Given the description of an element on the screen output the (x, y) to click on. 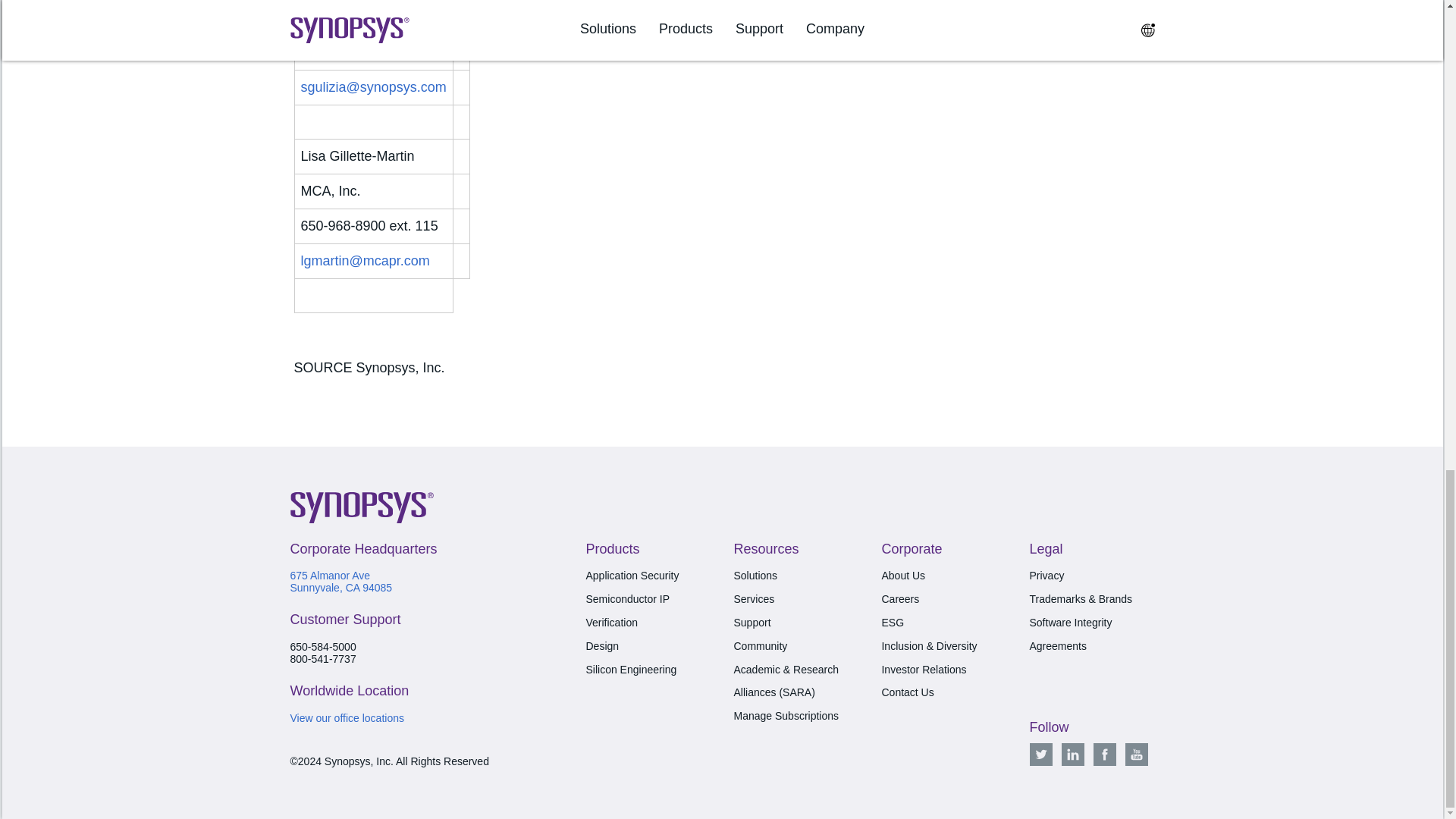
Linkedin (1072, 753)
Twitter (1040, 753)
Facebook (1104, 753)
